Given the description of an element on the screen output the (x, y) to click on. 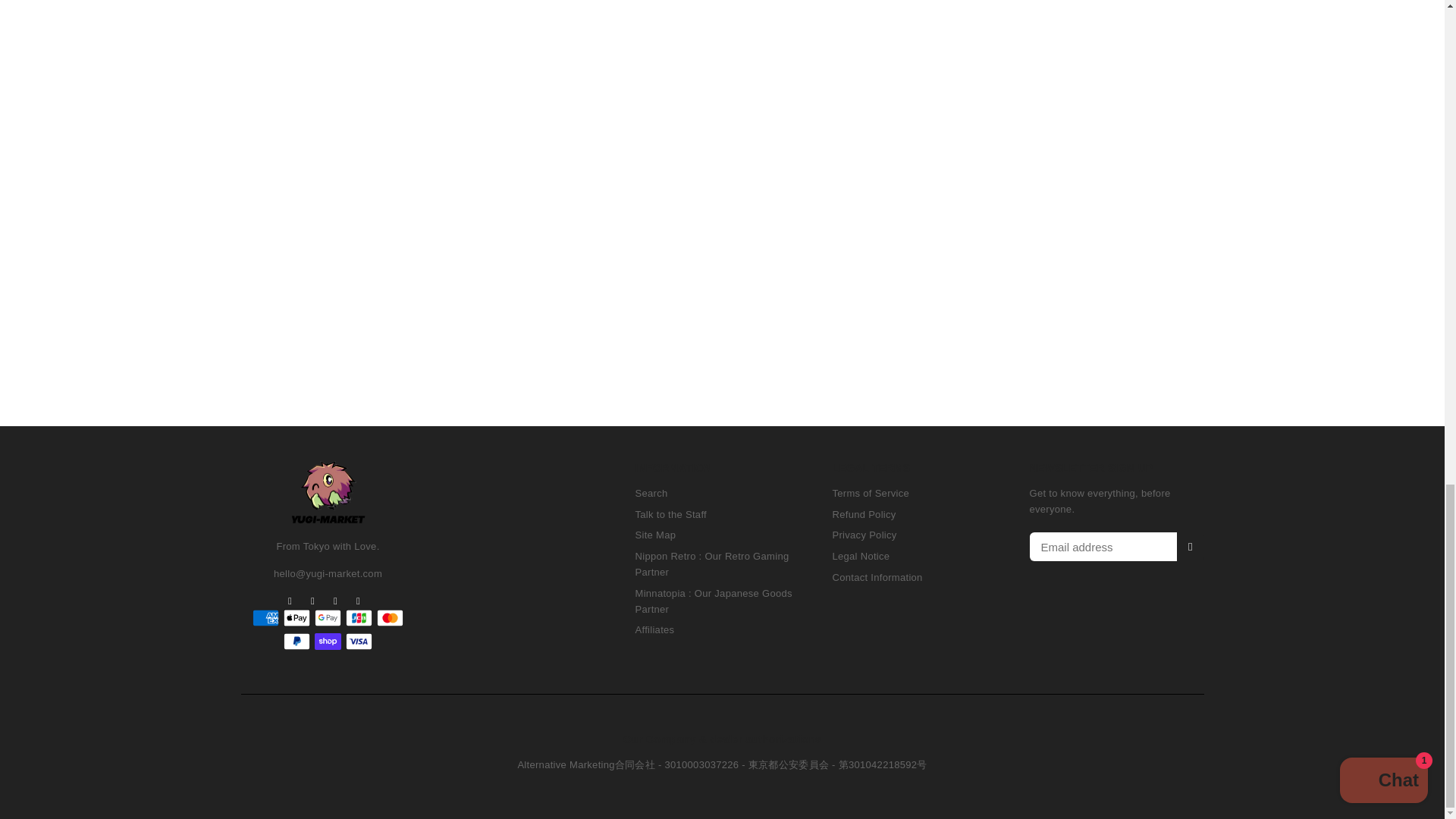
JCB (359, 618)
Visa (359, 641)
Apple Pay (296, 618)
Yugi-Market on Facebook (290, 601)
American Express (265, 618)
Yugi-Market on TikTok (358, 601)
Shop Pay (327, 641)
Mastercard (390, 618)
Yugi-Market on Instagram (335, 601)
PayPal (296, 641)
Yugi-Market on Twitter (312, 601)
Google Pay (327, 618)
